Given the description of an element on the screen output the (x, y) to click on. 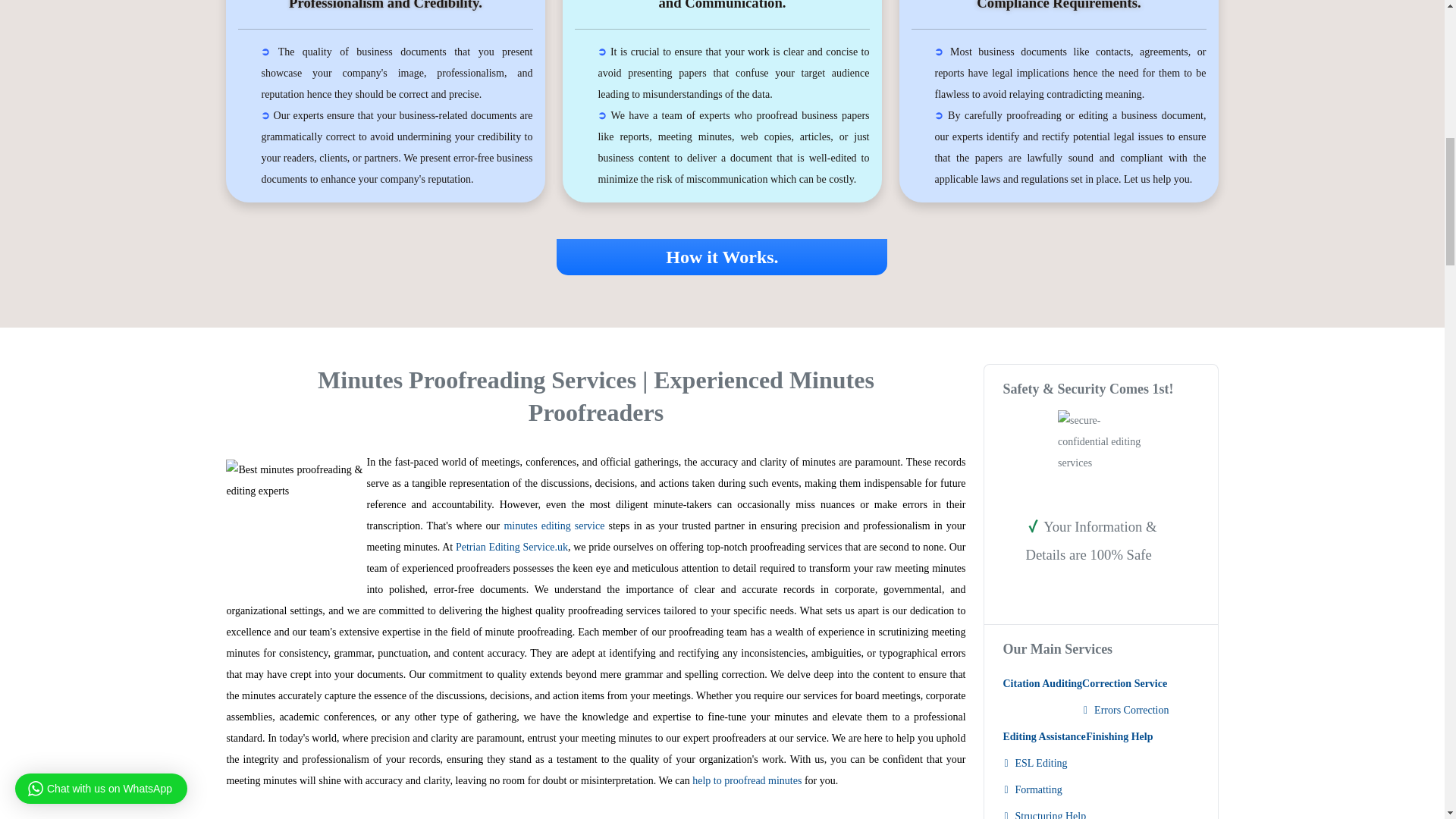
ESL Editing (1044, 763)
help to proofread minutes (747, 780)
How it Works. (721, 259)
Formatting (1044, 789)
minutes editing service (555, 525)
Citation Auditing (1042, 683)
Errors Correction (1125, 709)
Structuring Help (1044, 811)
Petrian Editing Service.uk (511, 546)
Correction Service (1125, 683)
Finishing Help (1119, 736)
Editing Assistance (1044, 736)
Sitemap (1100, 594)
